Given the description of an element on the screen output the (x, y) to click on. 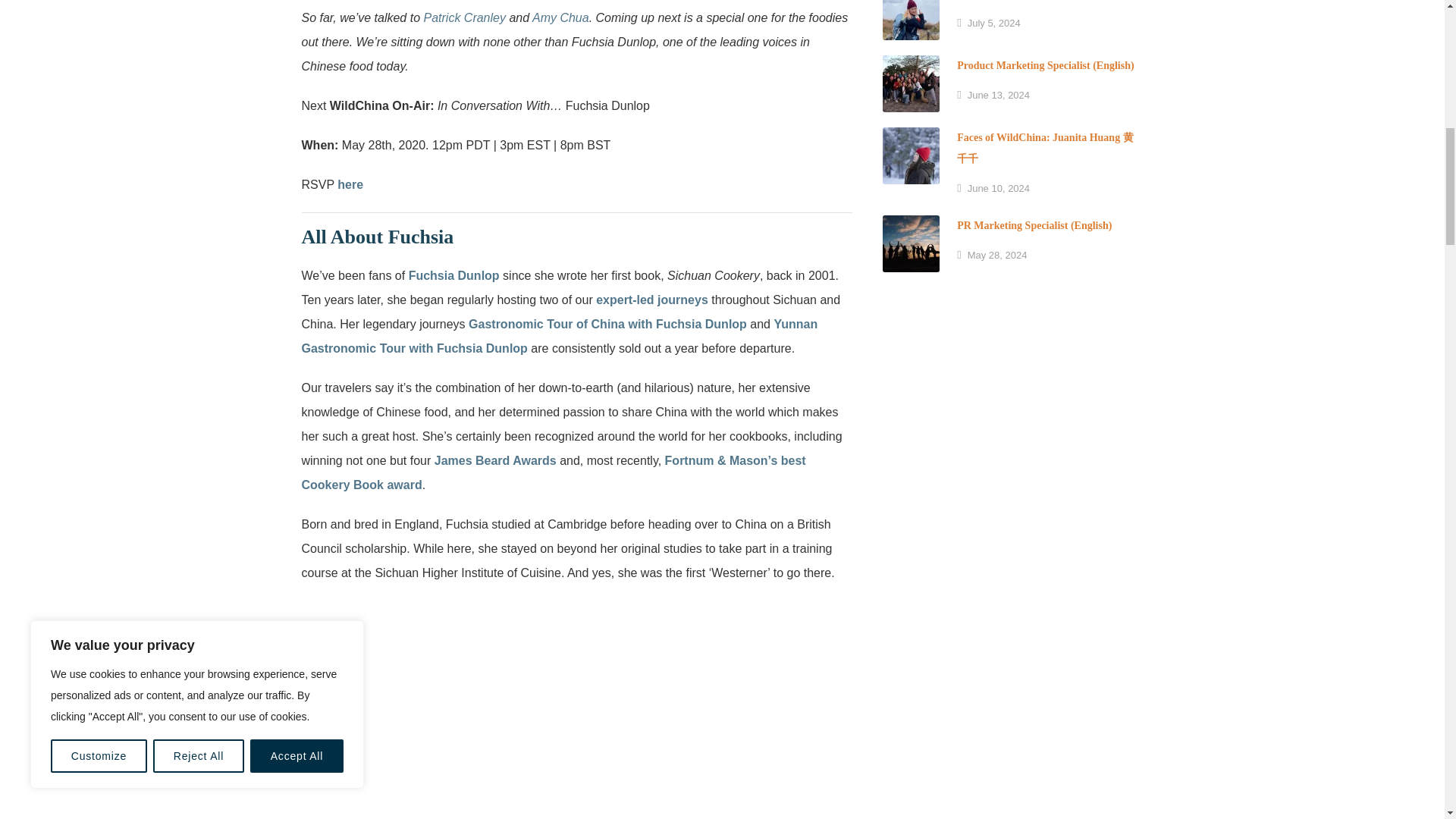
7d2350e6-4a49-4fe5-9efb-1f2831e51be4 (910, 20)
In Conversation With... Fuchsia Dunlop (577, 709)
Juanita Huang Cover Image (910, 155)
